Given the description of an element on the screen output the (x, y) to click on. 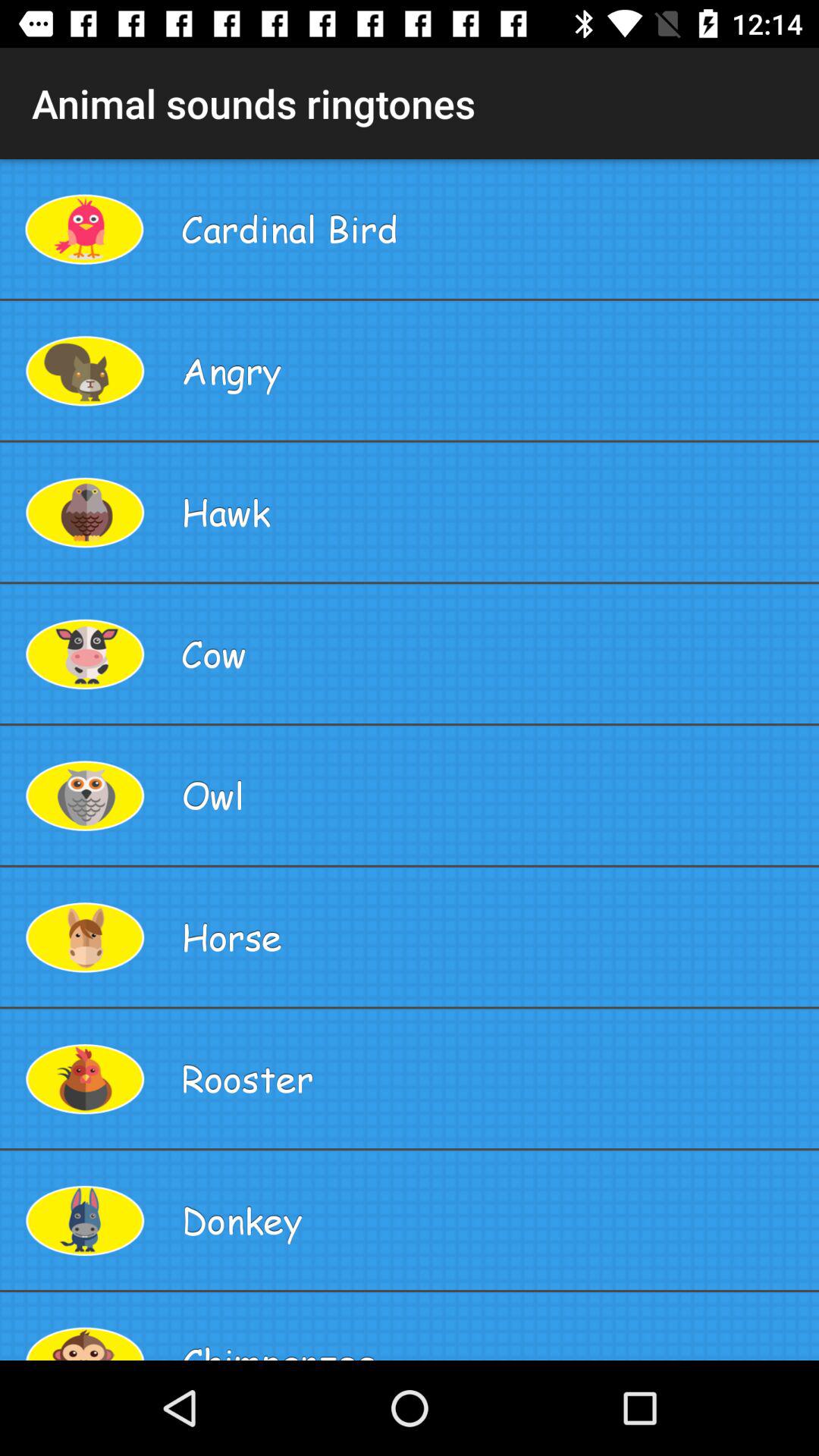
scroll to donkey icon (494, 1219)
